Given the description of an element on the screen output the (x, y) to click on. 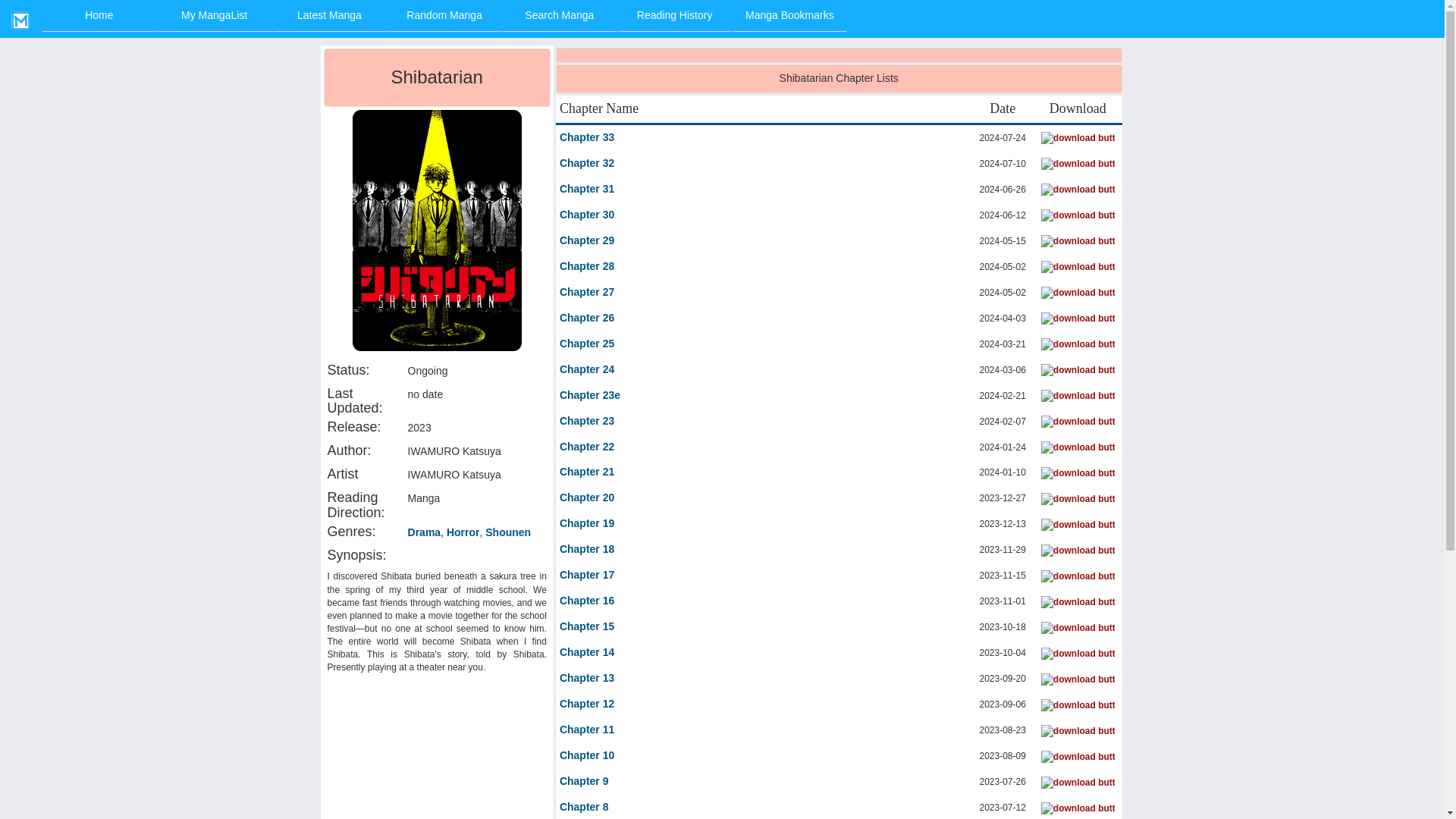
Chapter 21 (586, 472)
Search Manga (559, 15)
Chapter 22 (586, 447)
Latest Manga (328, 15)
Horror (463, 532)
Chapter 31 (586, 189)
Chapter 30 (586, 215)
Chapter 23e (589, 395)
Chapter 23 (586, 421)
My MangaList (214, 15)
